Given the description of an element on the screen output the (x, y) to click on. 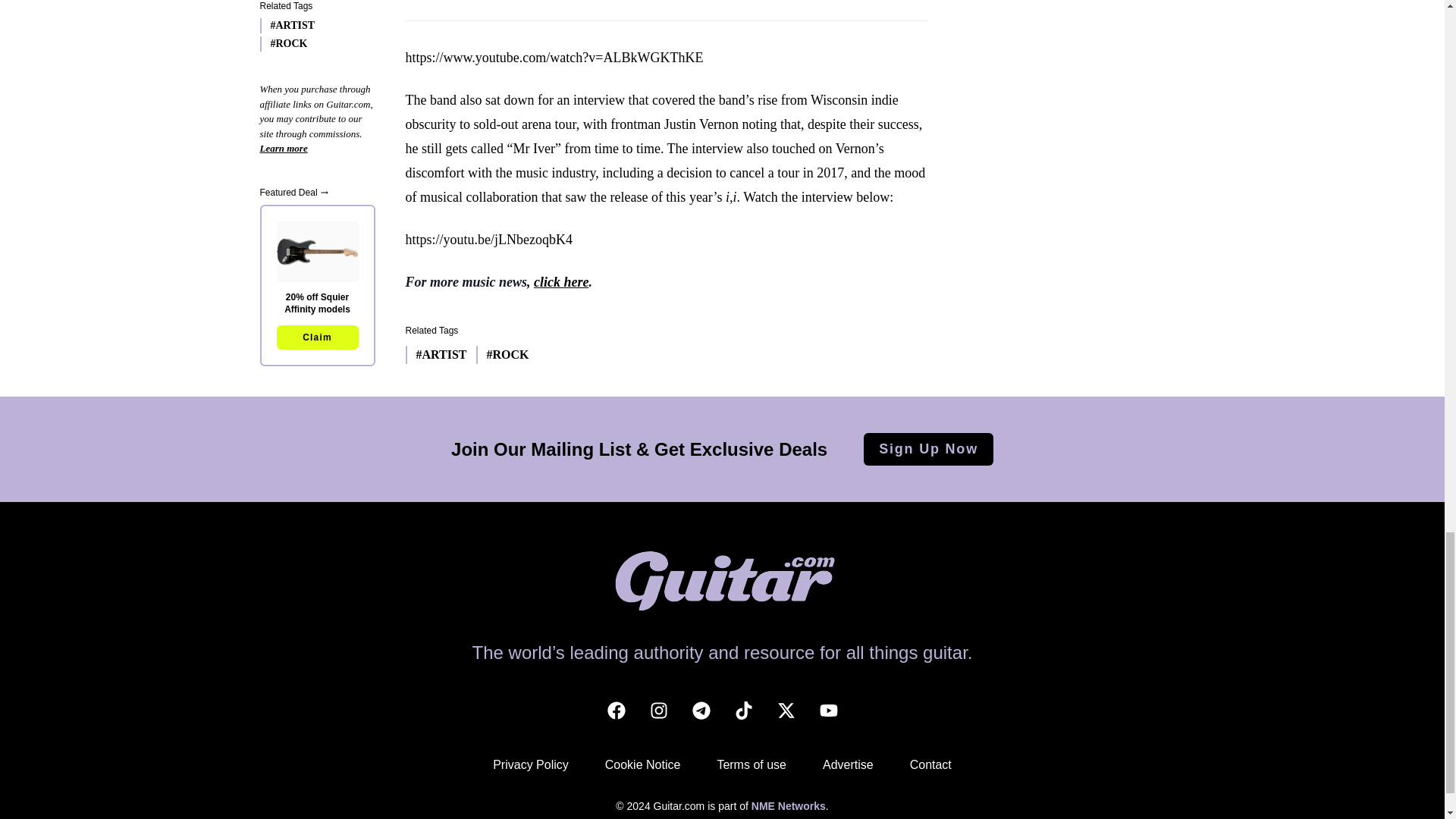
Artist (434, 354)
Rock (502, 354)
click here (561, 281)
Sign Up Now (927, 449)
